Given the description of an element on the screen output the (x, y) to click on. 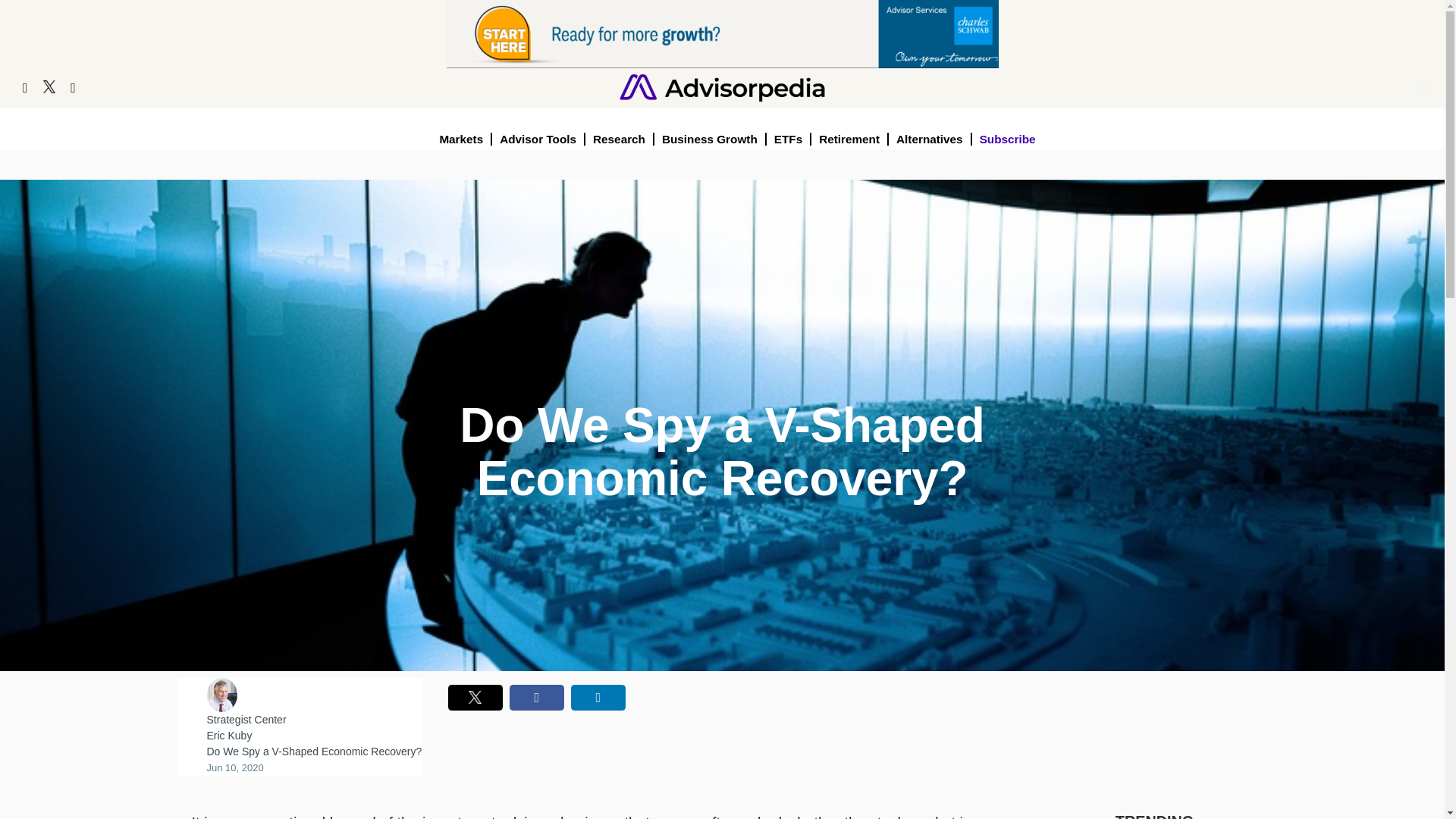
Alternatives (930, 138)
Business Growth (710, 138)
ETFs (788, 138)
Advisor Tools (538, 138)
Share on Twitter (475, 697)
Eric Kuby (228, 735)
Do We Spy a V-Shaped Economic Recovery? (314, 751)
Home (721, 87)
Subscribe (1007, 138)
Retirement (849, 138)
Share on LinkedIn (598, 697)
Research (619, 138)
Markets (461, 138)
Strategist Center (245, 719)
Share on Facebook (536, 697)
